Given the description of an element on the screen output the (x, y) to click on. 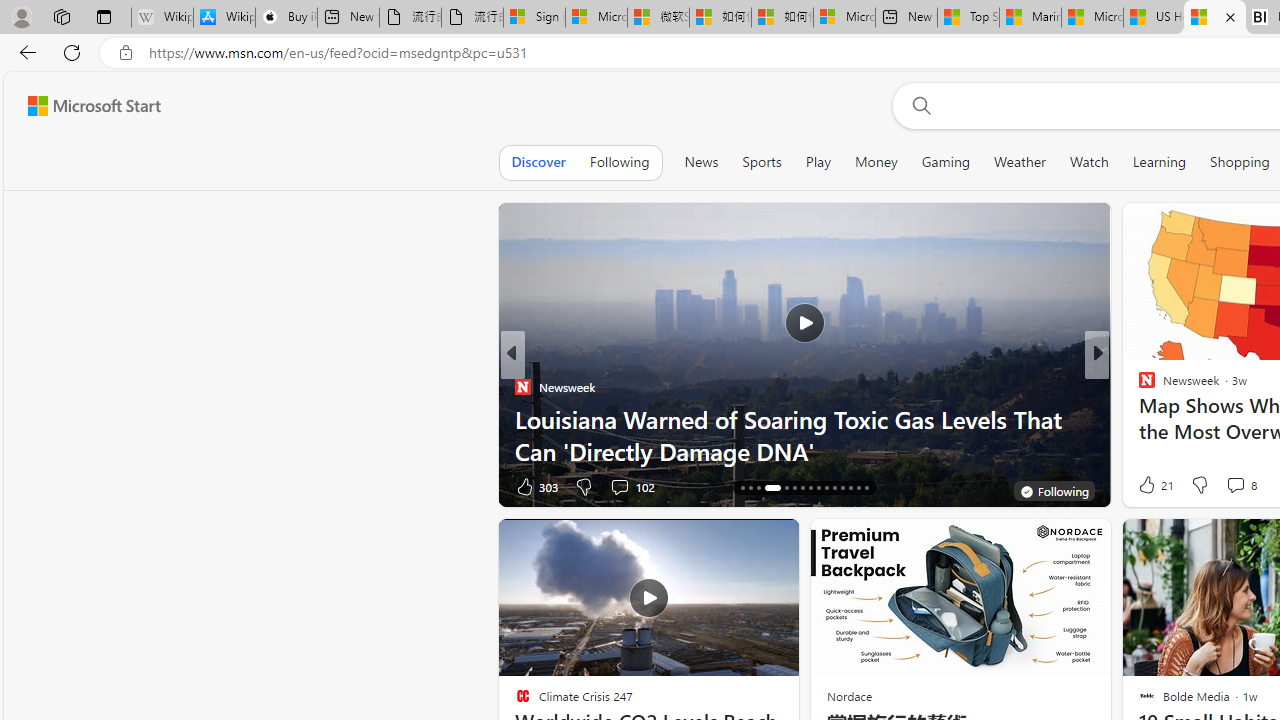
Axios Login (1138, 418)
AutomationID: tab-27 (842, 487)
View comments 265 Comment (1234, 485)
View comments 265 Comment (1247, 486)
View comments 31 Comment (1237, 486)
View comments 102 Comment (619, 485)
View comments 4 Comment (1229, 485)
257 Like (1151, 486)
